Given the description of an element on the screen output the (x, y) to click on. 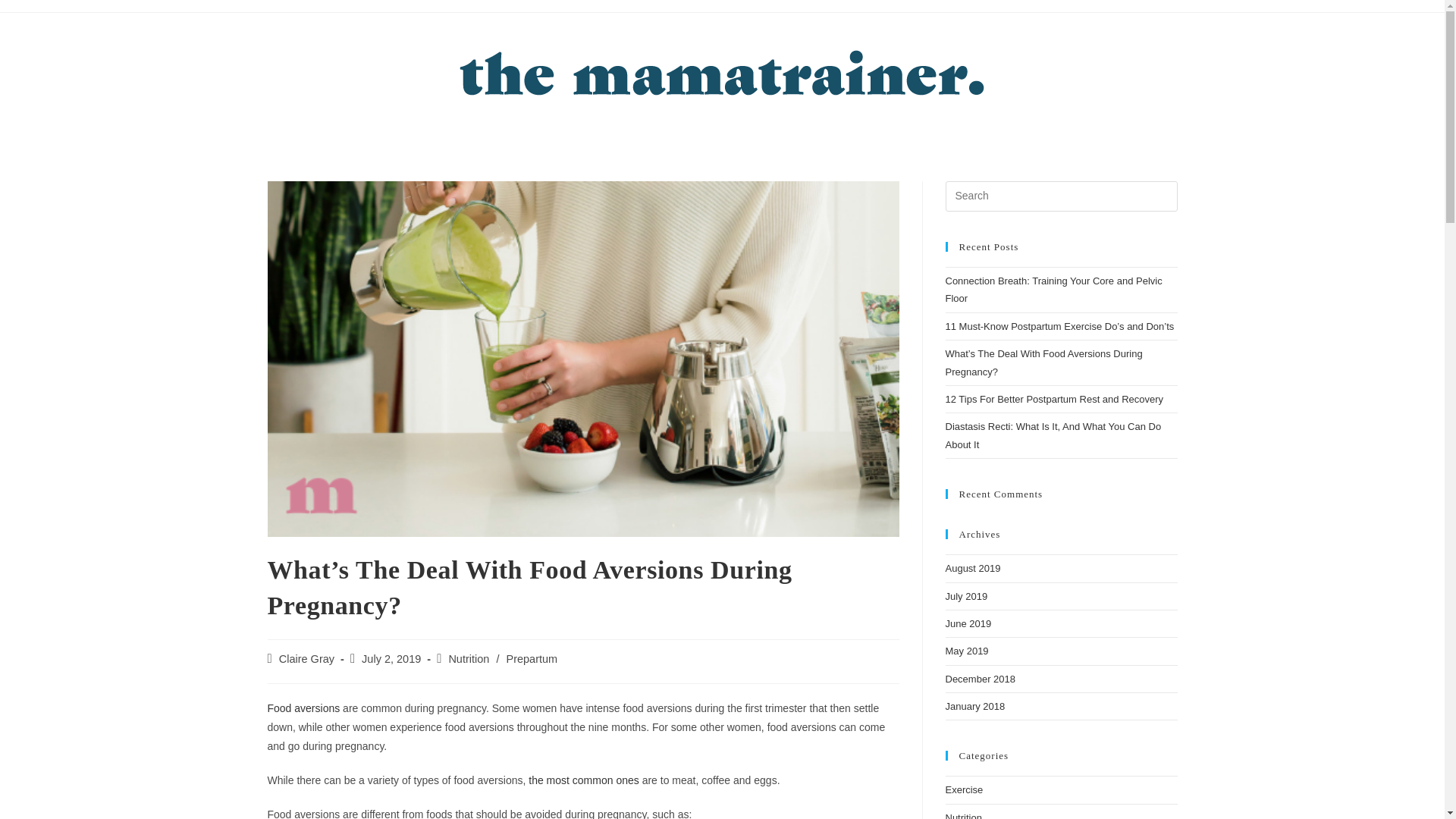
Prepartum (531, 658)
Nutrition (468, 658)
July 2019 (965, 595)
Posts by Claire Gray (306, 658)
12 Tips For Better Postpartum Rest and Recovery (1053, 398)
the most common ones (583, 779)
December 2018 (979, 678)
Diastasis Recti: What Is It, And What You Can Do About It (1052, 434)
June 2019 (967, 623)
Claire Gray (306, 658)
